Given the description of an element on the screen output the (x, y) to click on. 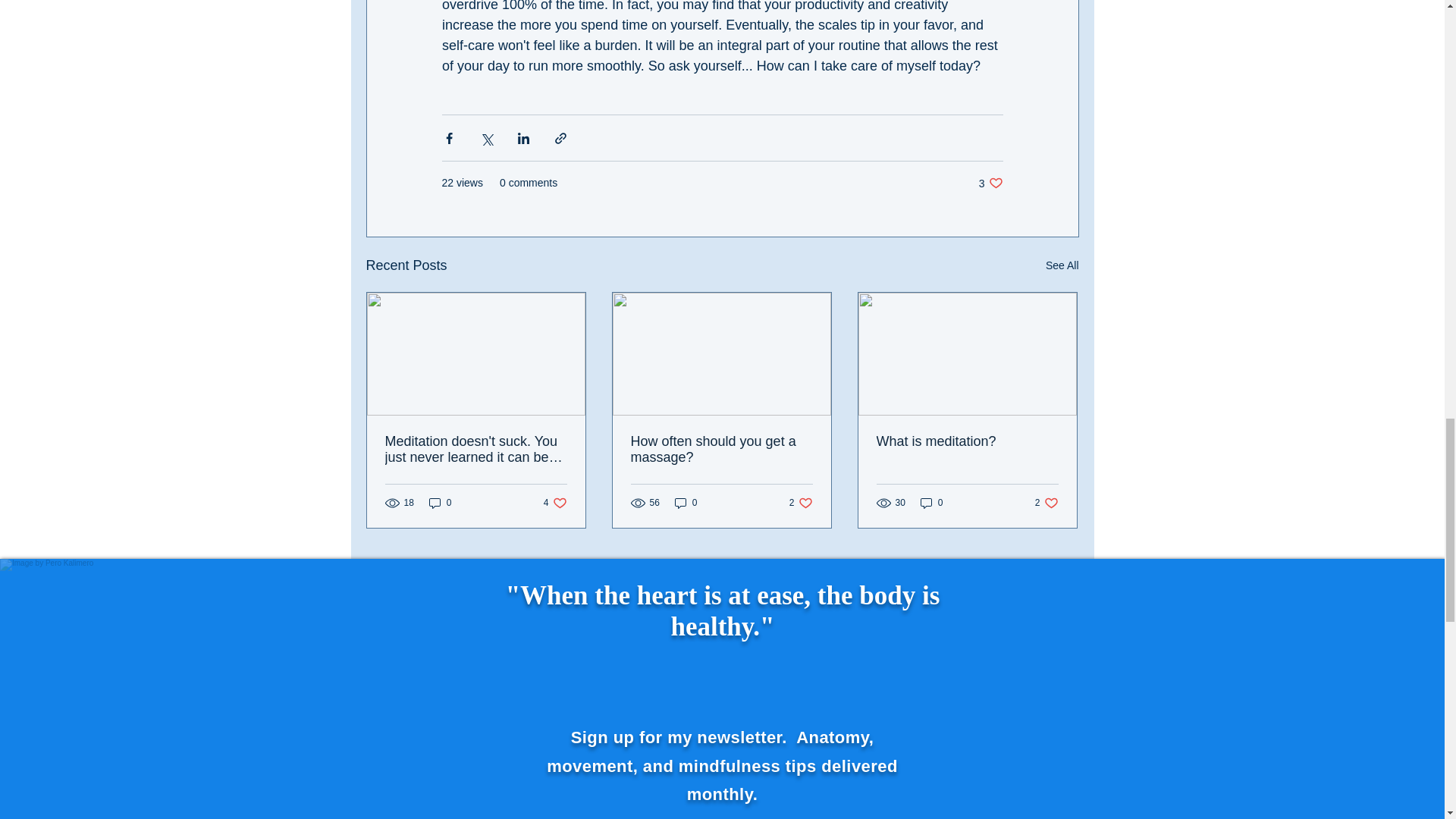
How often should you get a massage? (1046, 503)
0 (555, 503)
0 (721, 450)
See All (440, 503)
What is meditation? (931, 503)
